Given the description of an element on the screen output the (x, y) to click on. 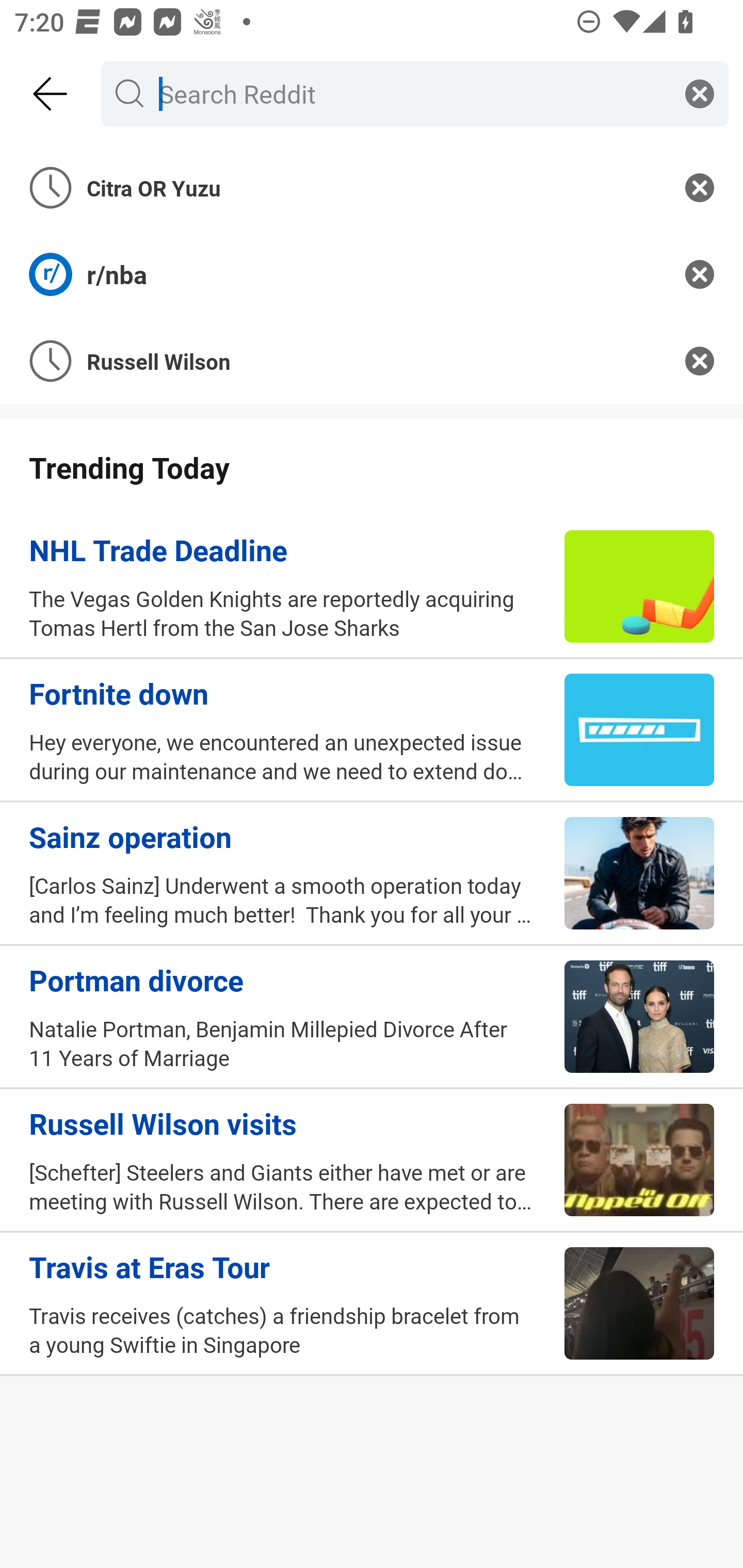
Back (50, 93)
Search Reddit (410, 93)
Clear search (699, 93)
Citra OR Yuzu Recent search: Citra OR Yuzu Remove (371, 187)
Remove (699, 187)
r/nba Recent search: r/nba Remove (371, 274)
Remove (699, 274)
Remove (699, 361)
